Given the description of an element on the screen output the (x, y) to click on. 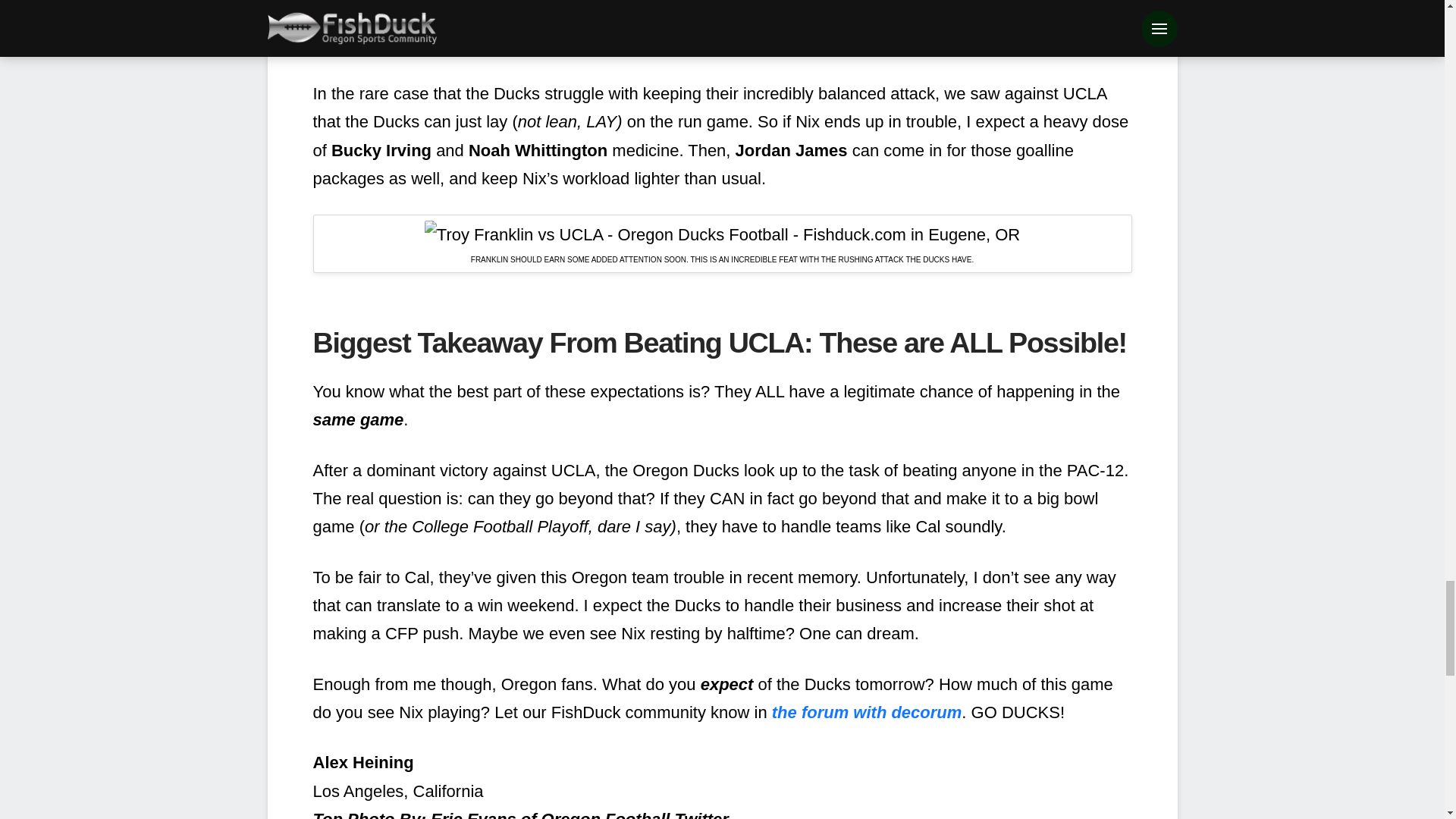
the forum with decorum (866, 711)
